Given the description of an element on the screen output the (x, y) to click on. 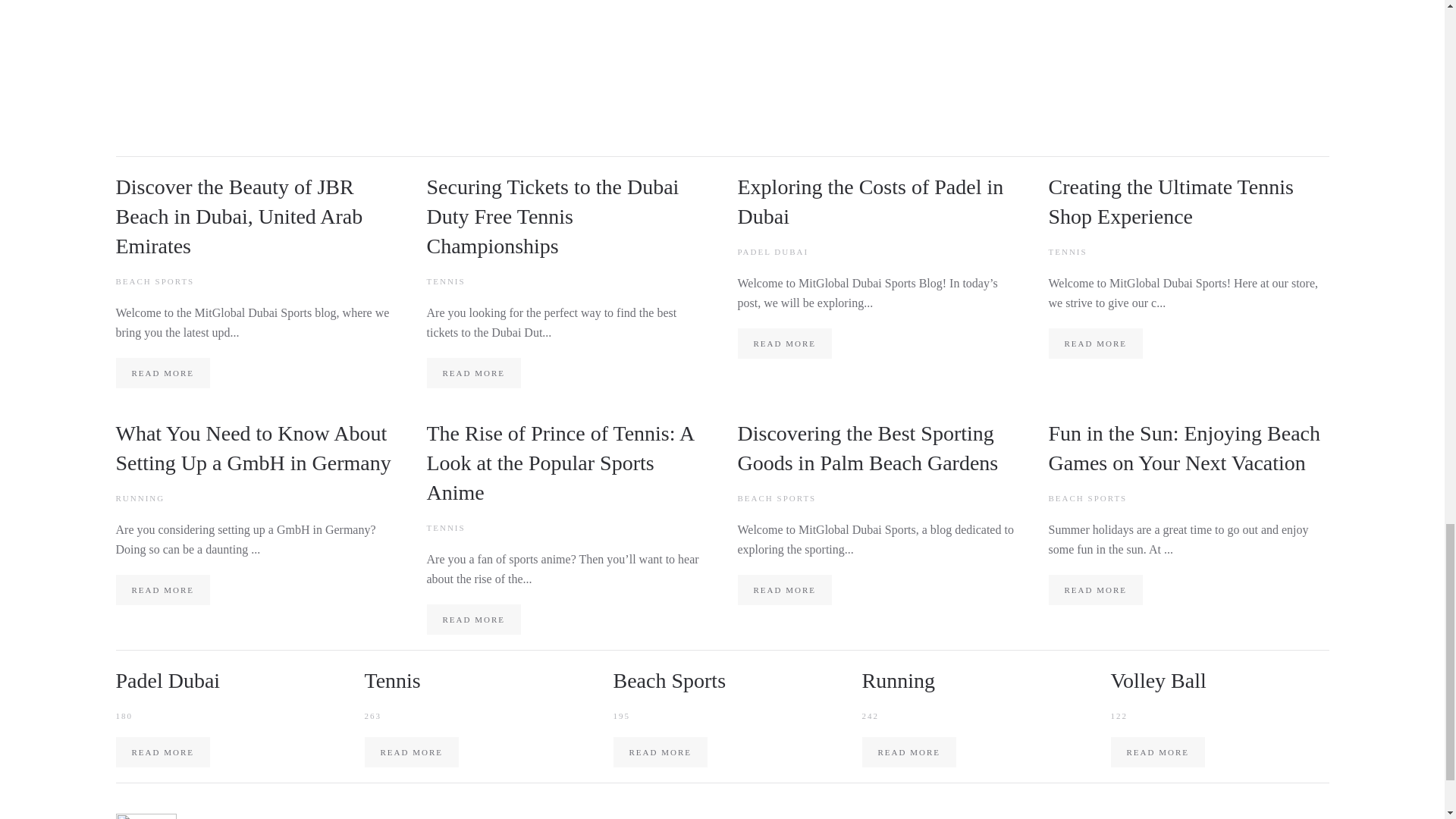
BEACH SPORTS (1087, 497)
READ MORE (659, 752)
READ MORE (1094, 589)
TENNIS (1067, 251)
READ MORE (1094, 343)
READ MORE (411, 752)
PADEL DUBAI (772, 251)
BEACH SPORTS (775, 497)
READ MORE (162, 752)
RUNNING (139, 497)
READ MORE (472, 372)
TENNIS (445, 280)
READ MORE (783, 343)
READ MORE (472, 619)
READ MORE (908, 752)
